Given the description of an element on the screen output the (x, y) to click on. 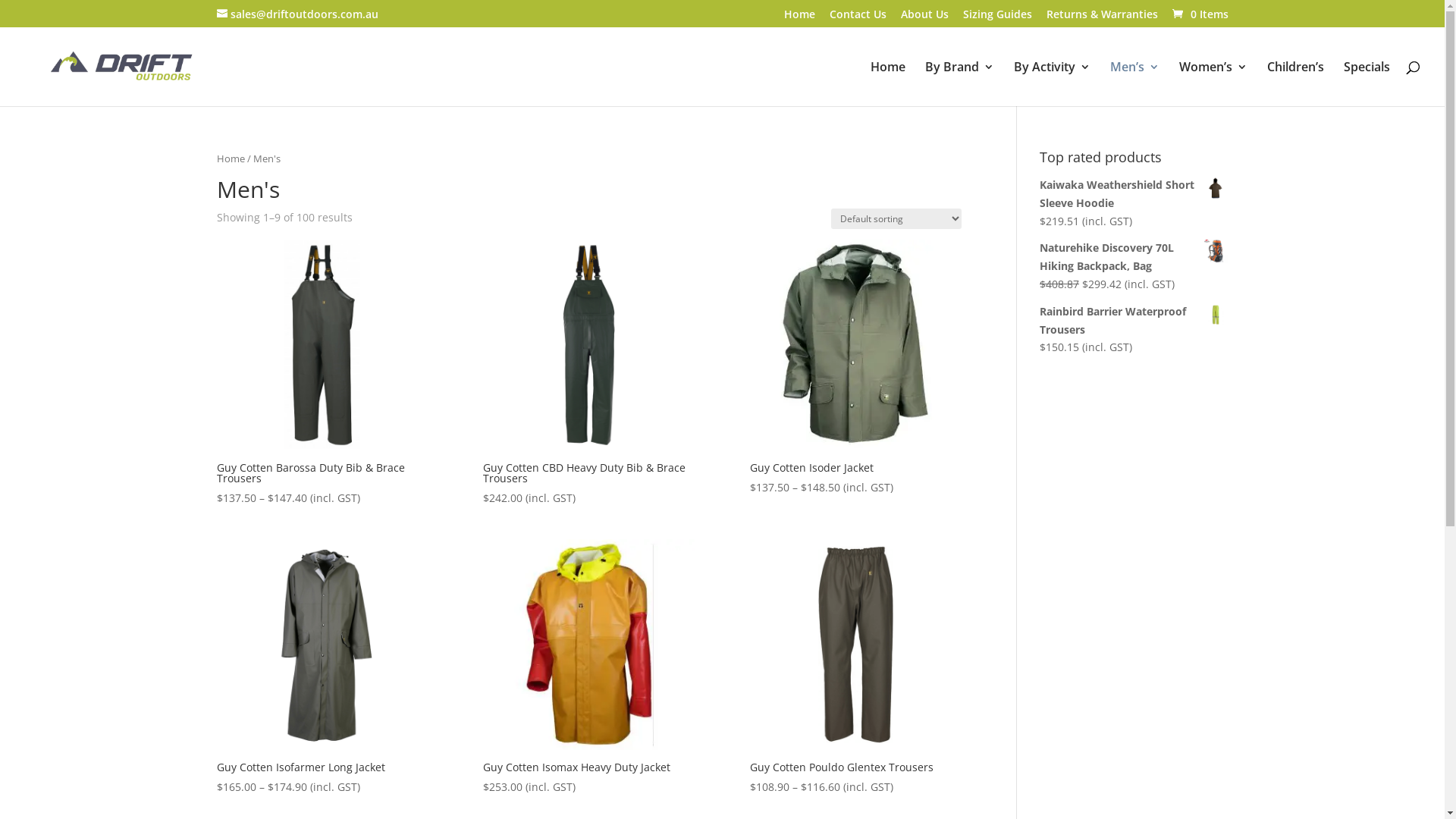
By Activity Element type: text (1051, 83)
Returns & Warranties Element type: text (1101, 18)
Home Element type: text (799, 18)
By Brand Element type: text (959, 83)
Contact Us Element type: text (857, 18)
Sizing Guides Element type: text (997, 18)
0 Items Element type: text (1198, 13)
Guy Cotten Isomax Heavy Duty Jacket
$253.00 (incl. GST) Element type: text (588, 667)
Kaiwaka Weathershield Short Sleeve Hoodie Element type: text (1133, 193)
Specials Element type: text (1366, 83)
sales@driftoutdoors.com.au Element type: text (297, 13)
About Us Element type: text (924, 18)
Home Element type: text (887, 83)
Home Element type: text (230, 158)
Rainbird Barrier Waterproof Trousers Element type: text (1133, 320)
Naturehike Discovery 70L Hiking Backpack, Bag Element type: text (1133, 256)
